Given the description of an element on the screen output the (x, y) to click on. 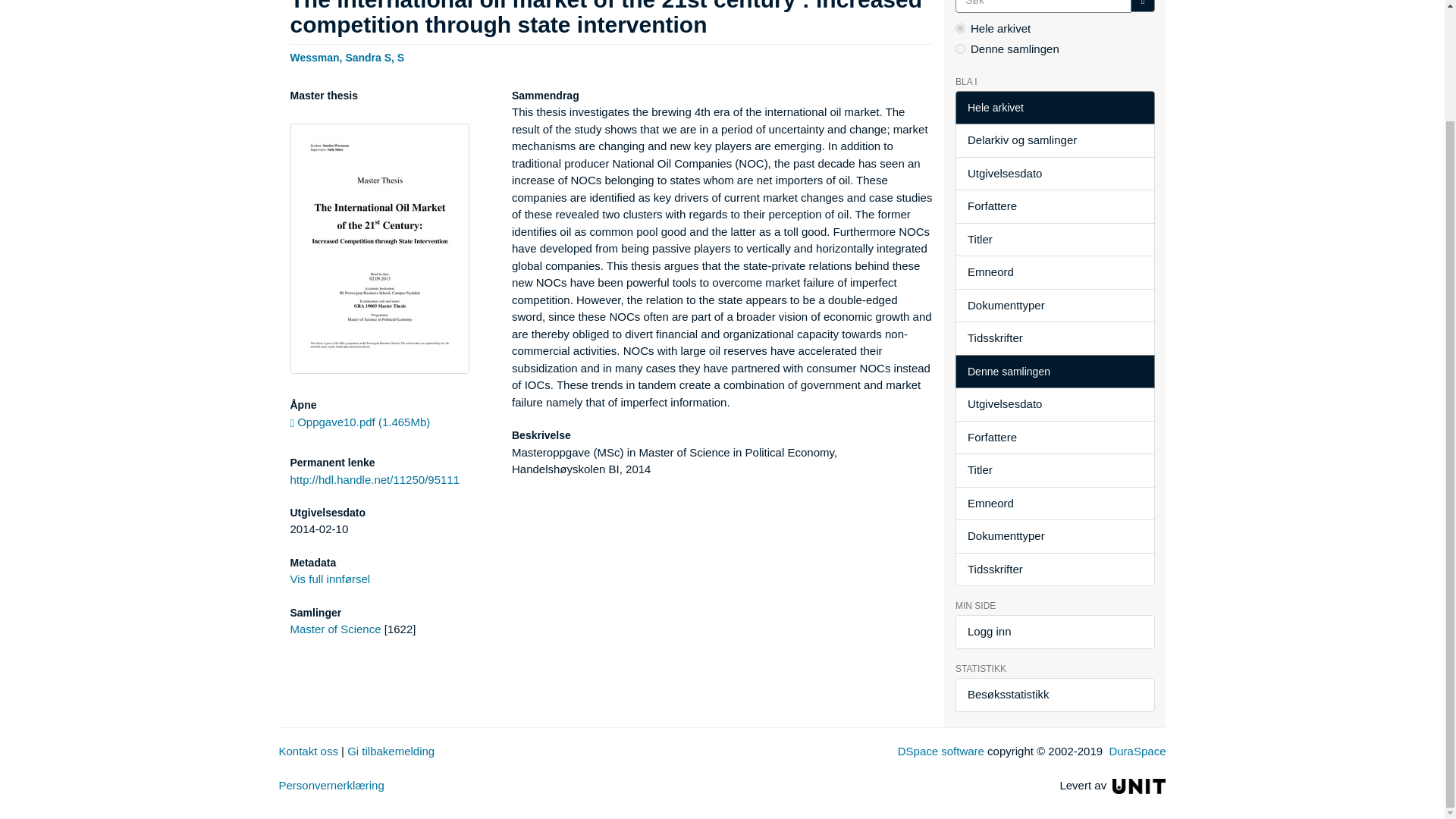
Delarkiv og samlinger (1054, 140)
Unit (1139, 784)
Master of Science (334, 628)
Wessman, Sandra S, S (346, 56)
Utgivelsesdato (1054, 173)
Forfattere (1054, 206)
Titler (1054, 239)
Hele arkivet (1054, 107)
Emneord (1054, 272)
